Given the description of an element on the screen output the (x, y) to click on. 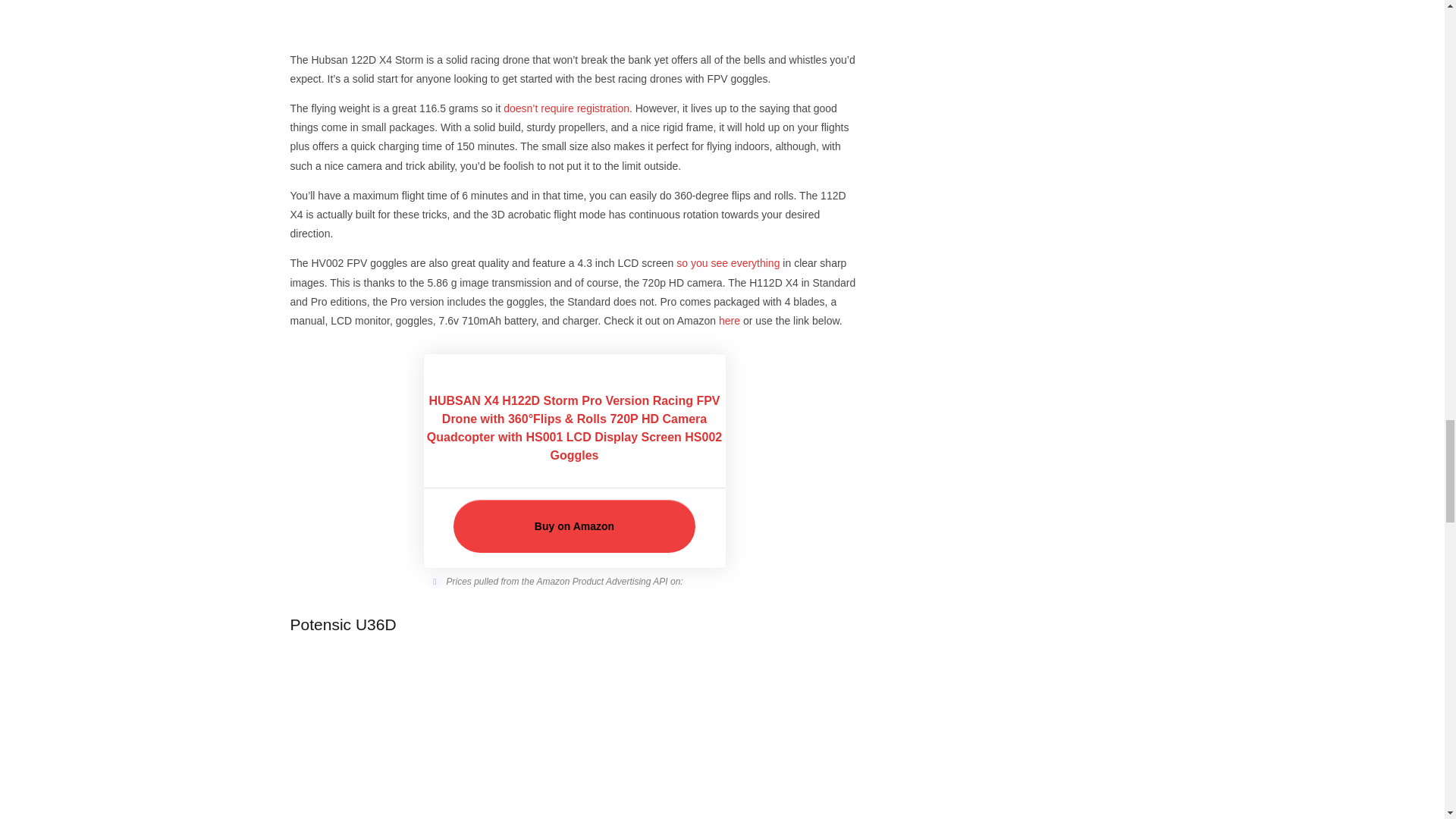
Potensic-U36D (574, 734)
Hubsan-112D-X4-Storm-Drone (574, 20)
